Given the description of an element on the screen output the (x, y) to click on. 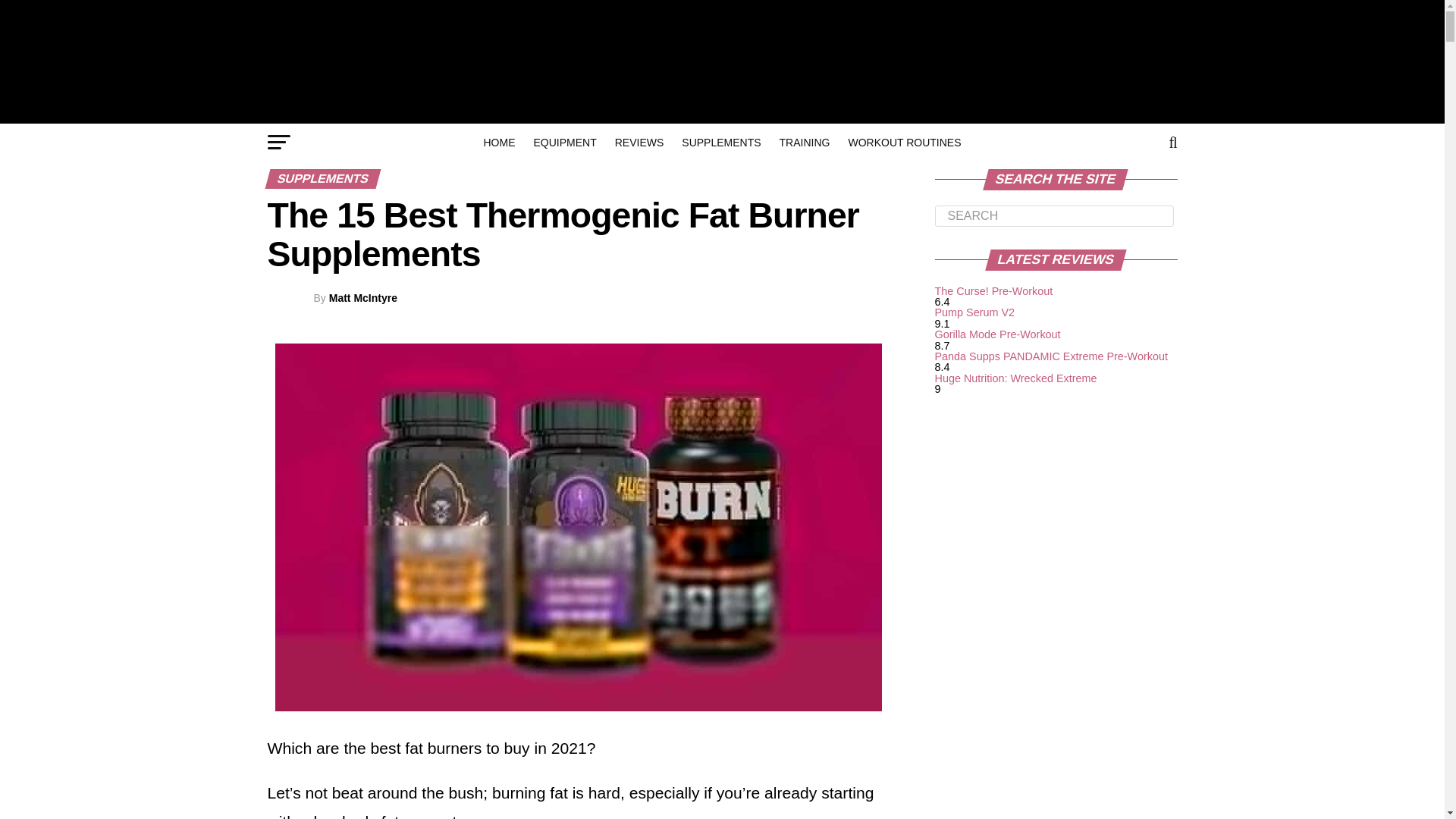
HOME (499, 142)
REVIEWS (638, 142)
Search (1053, 215)
SUPPLEMENTS (721, 142)
WORKOUT ROUTINES (903, 142)
TRAINING (805, 142)
Posts by Matt McIntyre (363, 297)
Matt McIntyre (363, 297)
EQUIPMENT (564, 142)
